Given the description of an element on the screen output the (x, y) to click on. 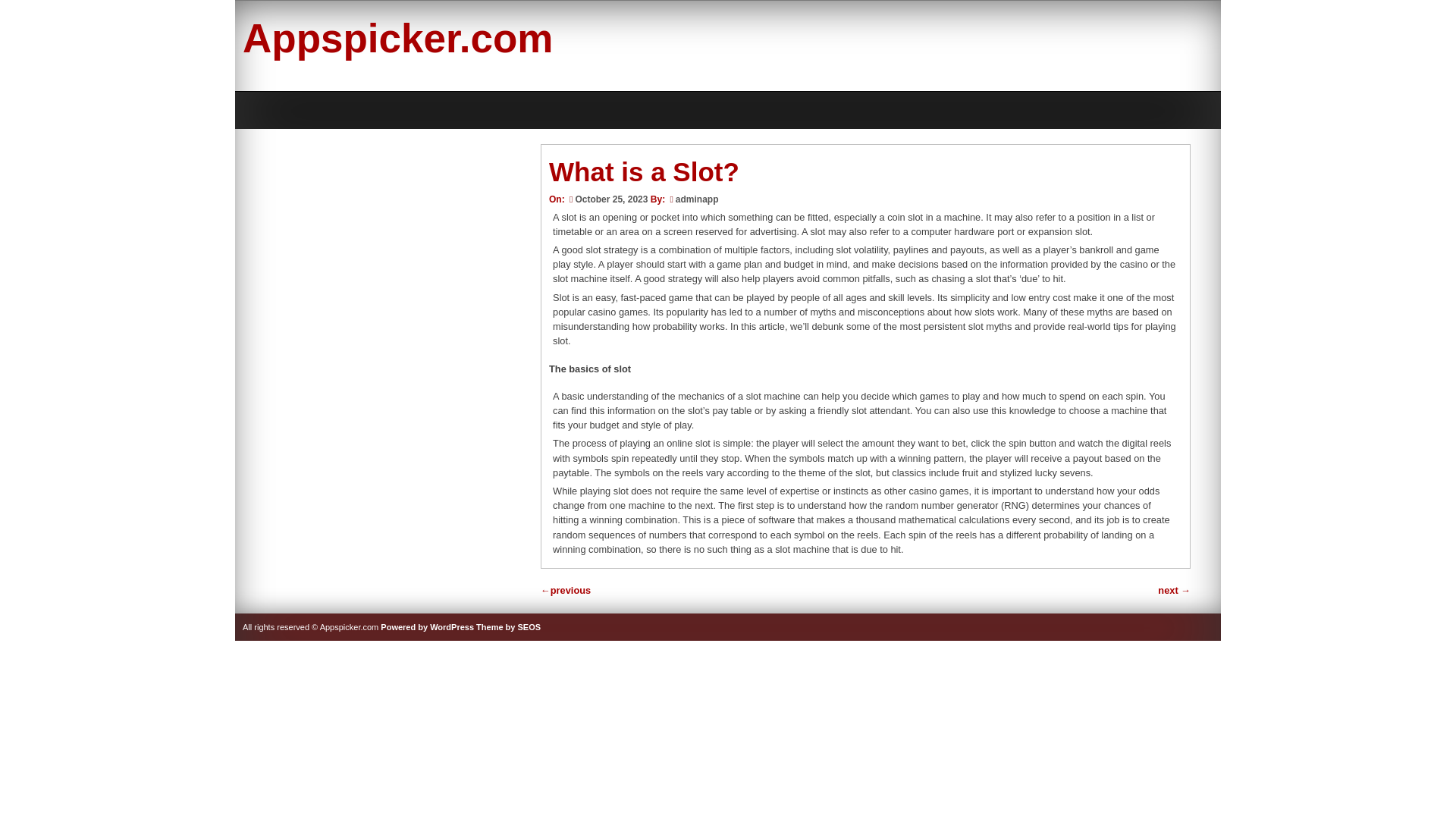
Powered by WordPress (427, 625)
October 25, 2023 (607, 199)
adminapp (697, 199)
Theme by SEOS (508, 625)
Appspicker.com (398, 37)
Seos free wordpress themes (508, 625)
